Given the description of an element on the screen output the (x, y) to click on. 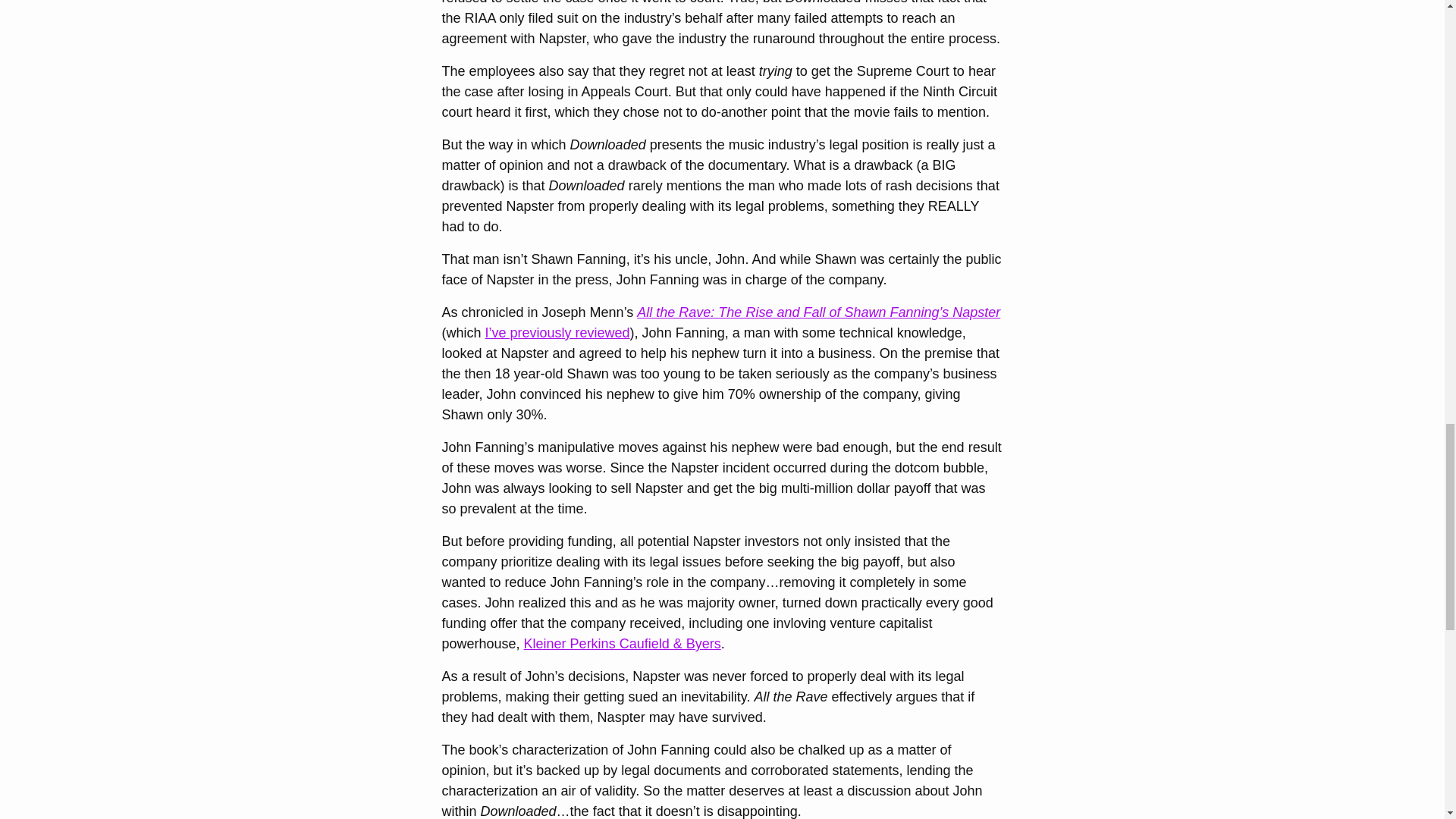
Buy 'All The Rave' at amazon.com (818, 312)
Read kaidez's review of 'All the Rave' (557, 332)
